Given the description of an element on the screen output the (x, y) to click on. 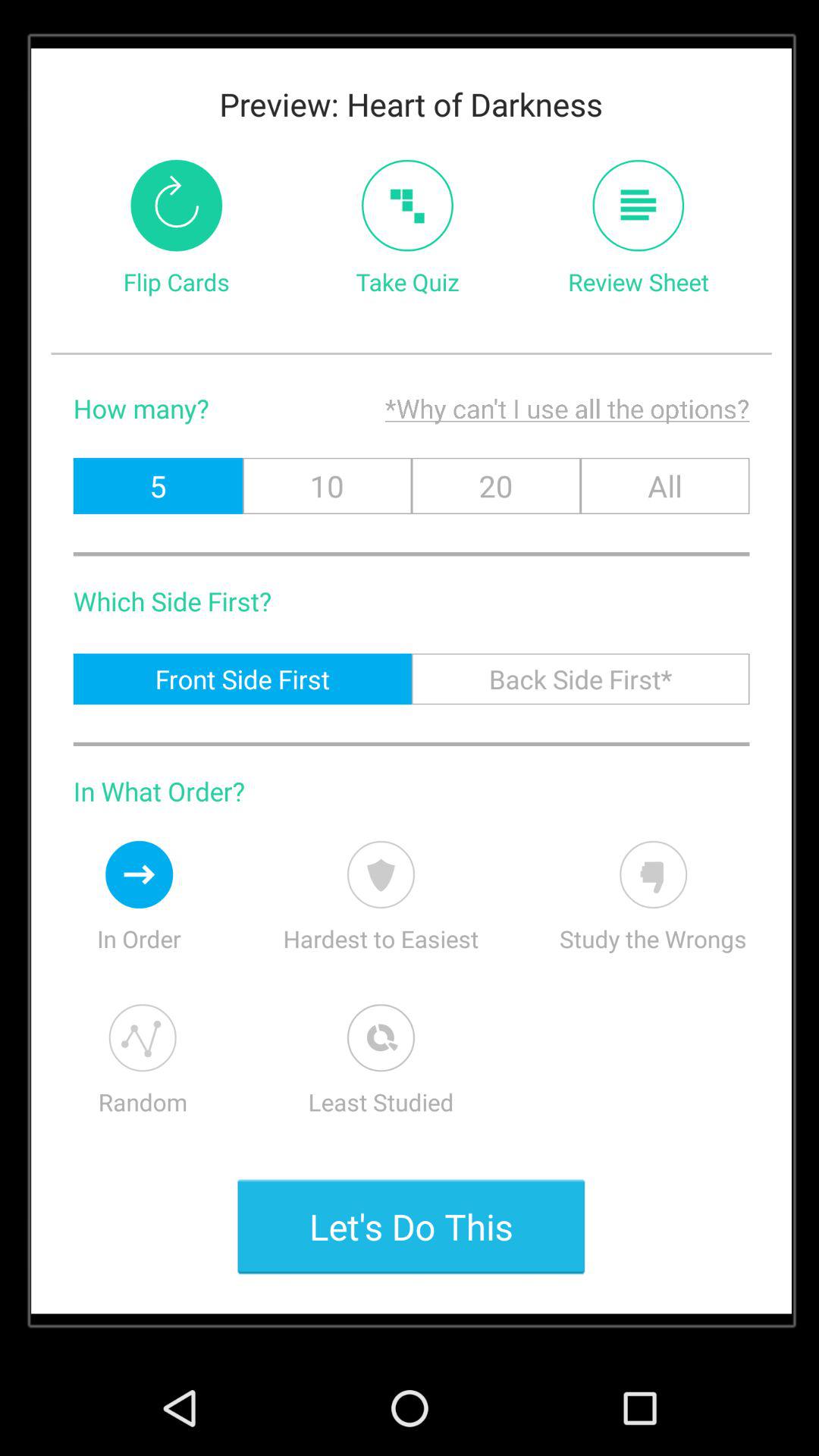
launch the icon below why can t item (326, 485)
